Given the description of an element on the screen output the (x, y) to click on. 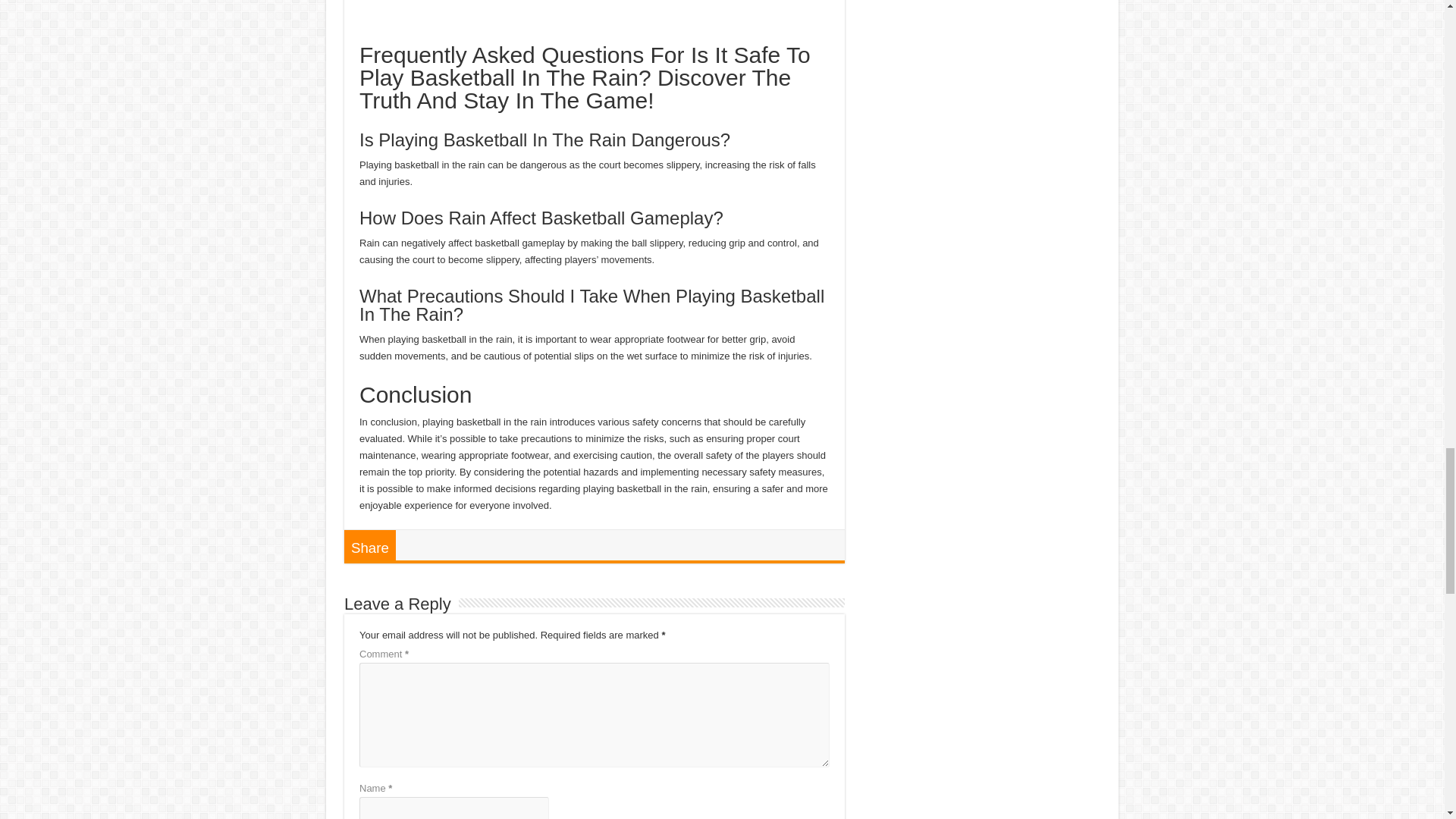
What It's Like Playing Basketball In The Dark... (594, 4)
